Given the description of an element on the screen output the (x, y) to click on. 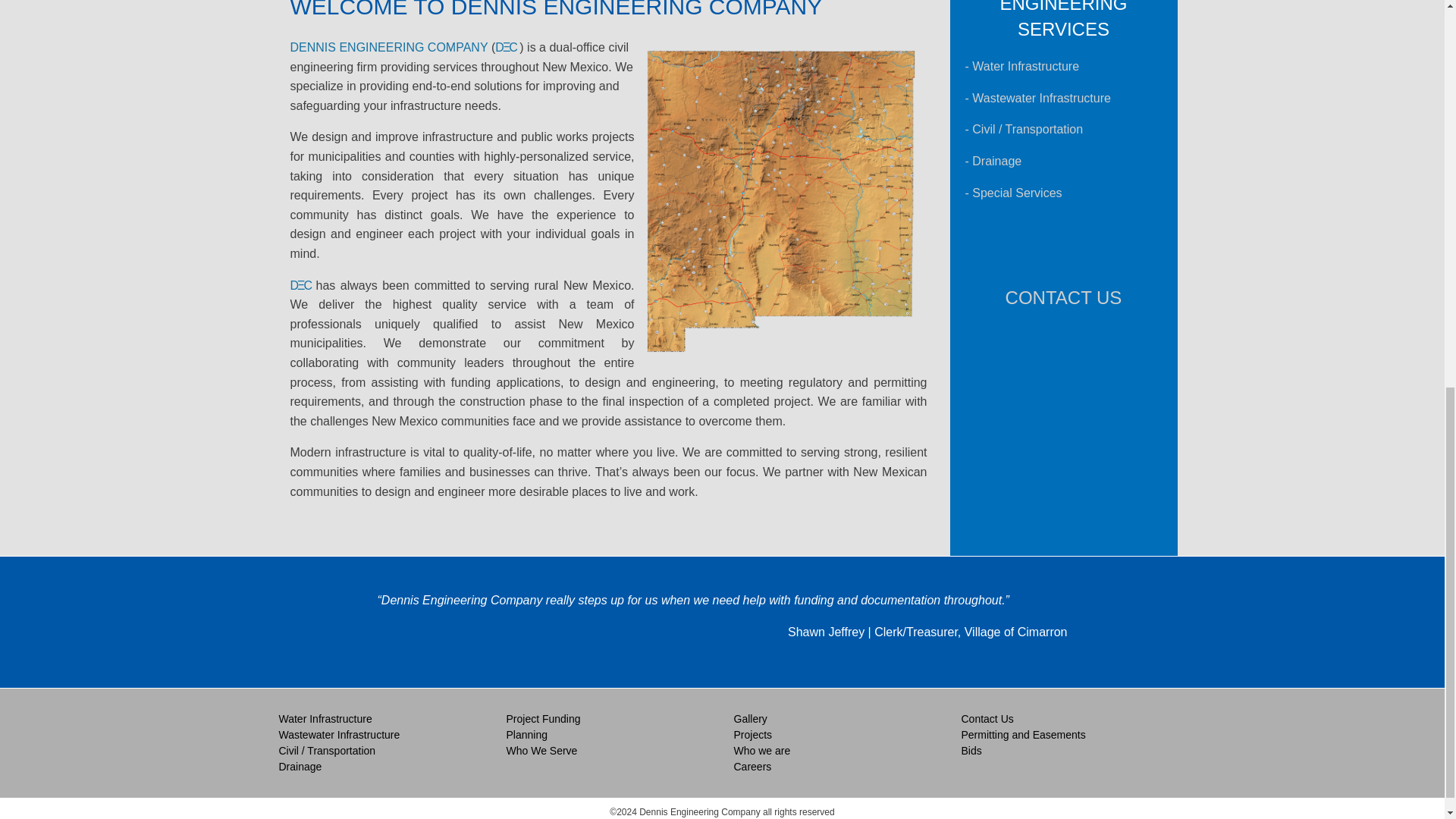
Drainage (300, 766)
Contact Us (986, 718)
Permitting and Easements (1023, 734)
CONTACT US (1064, 297)
Drainage (997, 160)
Who we are (761, 750)
Water Infrastructure (1025, 65)
Careers (752, 766)
Project Funding (543, 718)
Gallery (750, 718)
Planning (527, 734)
Special Services (1016, 192)
Who We Serve (542, 750)
Water Infrastructure (325, 718)
Wastewater Infrastructure (339, 734)
